Given the description of an element on the screen output the (x, y) to click on. 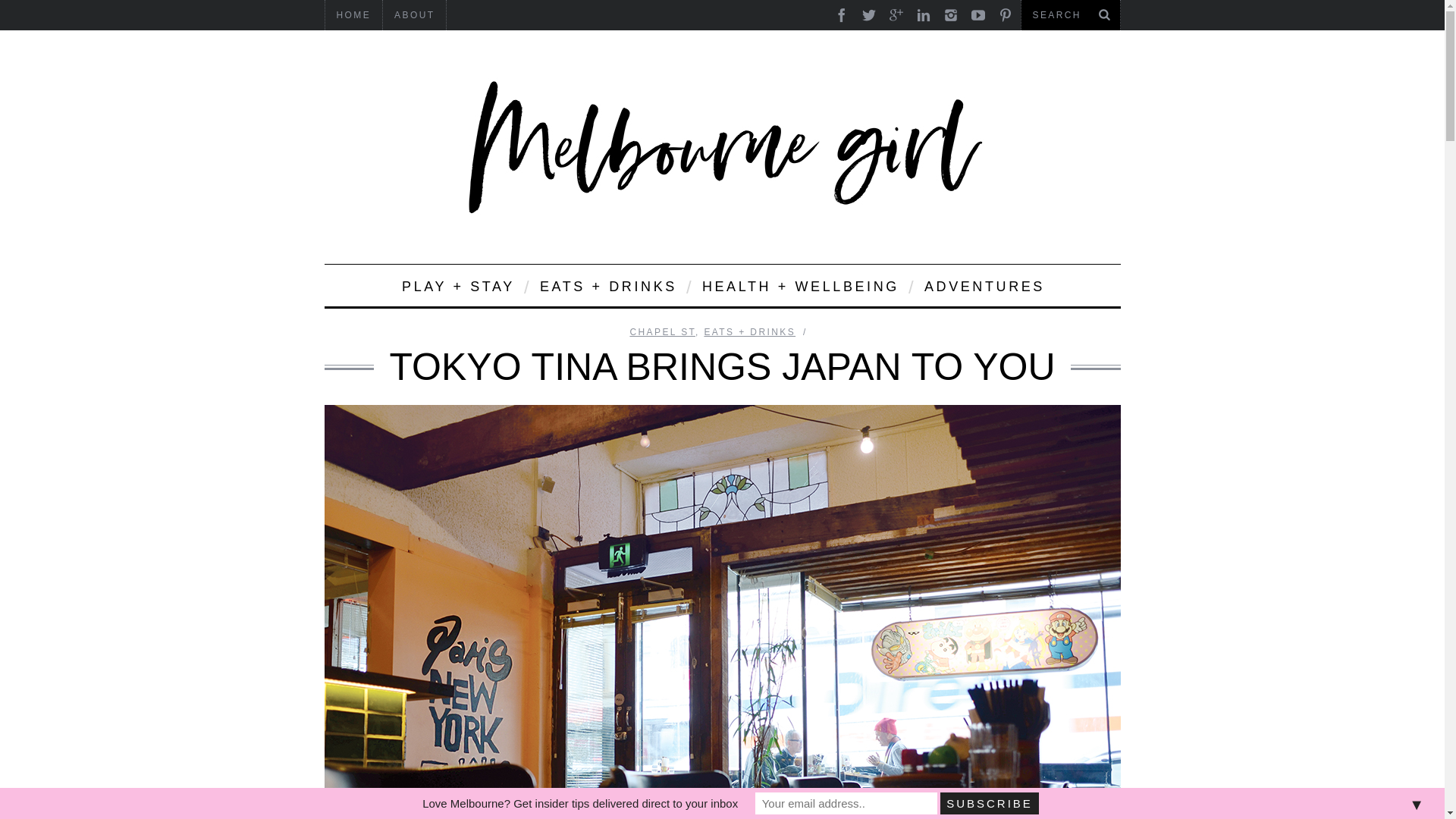
Subscribe (989, 803)
Search (1070, 15)
MELBOURNE GIRL - Melbourne Travel Guide (722, 146)
